Given the description of an element on the screen output the (x, y) to click on. 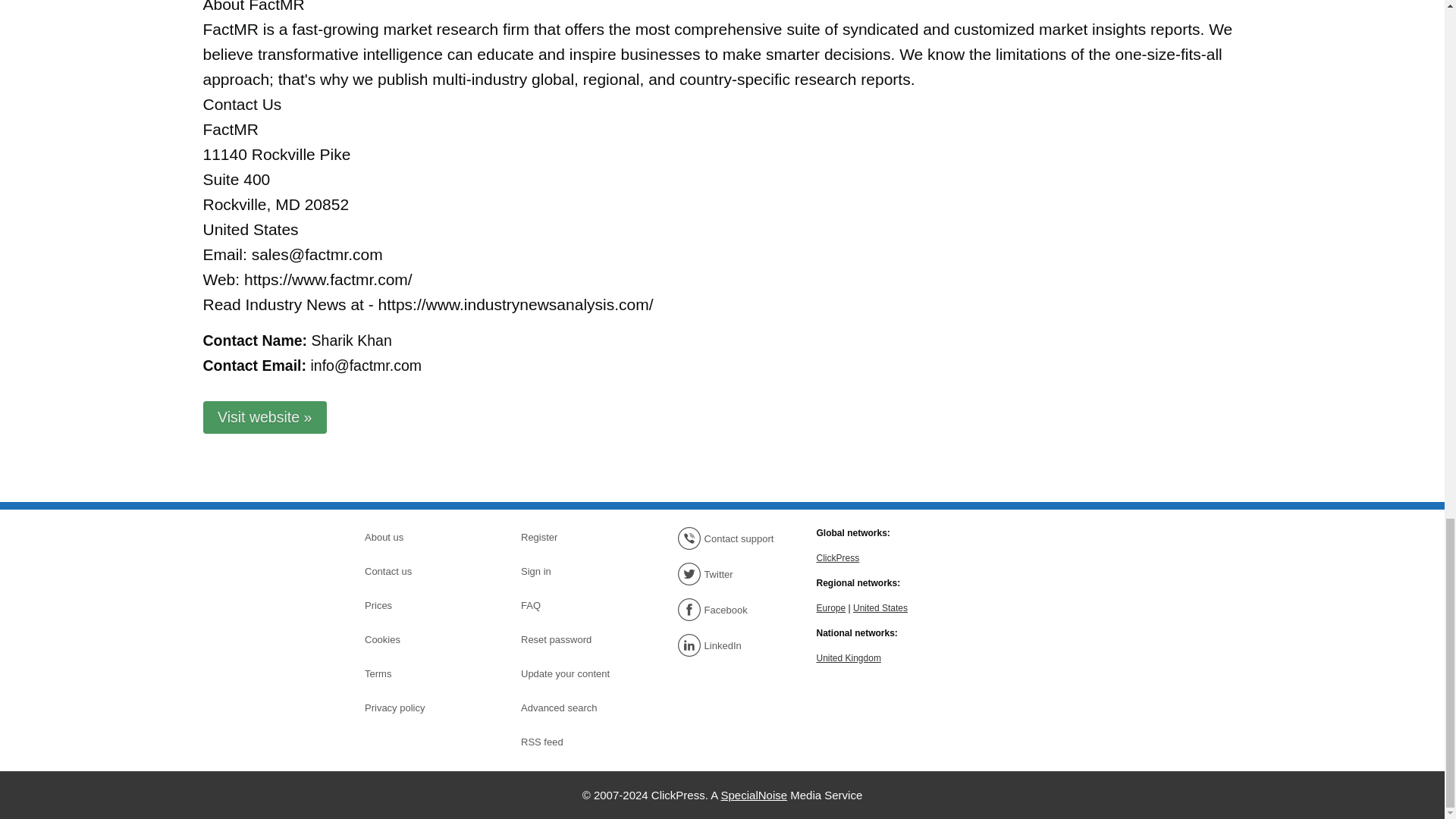
About us (417, 537)
Europe (830, 606)
Privacy policy (417, 707)
Contact us (417, 571)
FAQ (574, 605)
United States (880, 606)
Advanced search (574, 707)
Update your content (574, 673)
Contact support (730, 538)
ClickPress (837, 557)
Cookies (417, 639)
Sign in (574, 571)
SpecialNoise (753, 794)
Twitter (730, 573)
Reset password (574, 639)
